Given the description of an element on the screen output the (x, y) to click on. 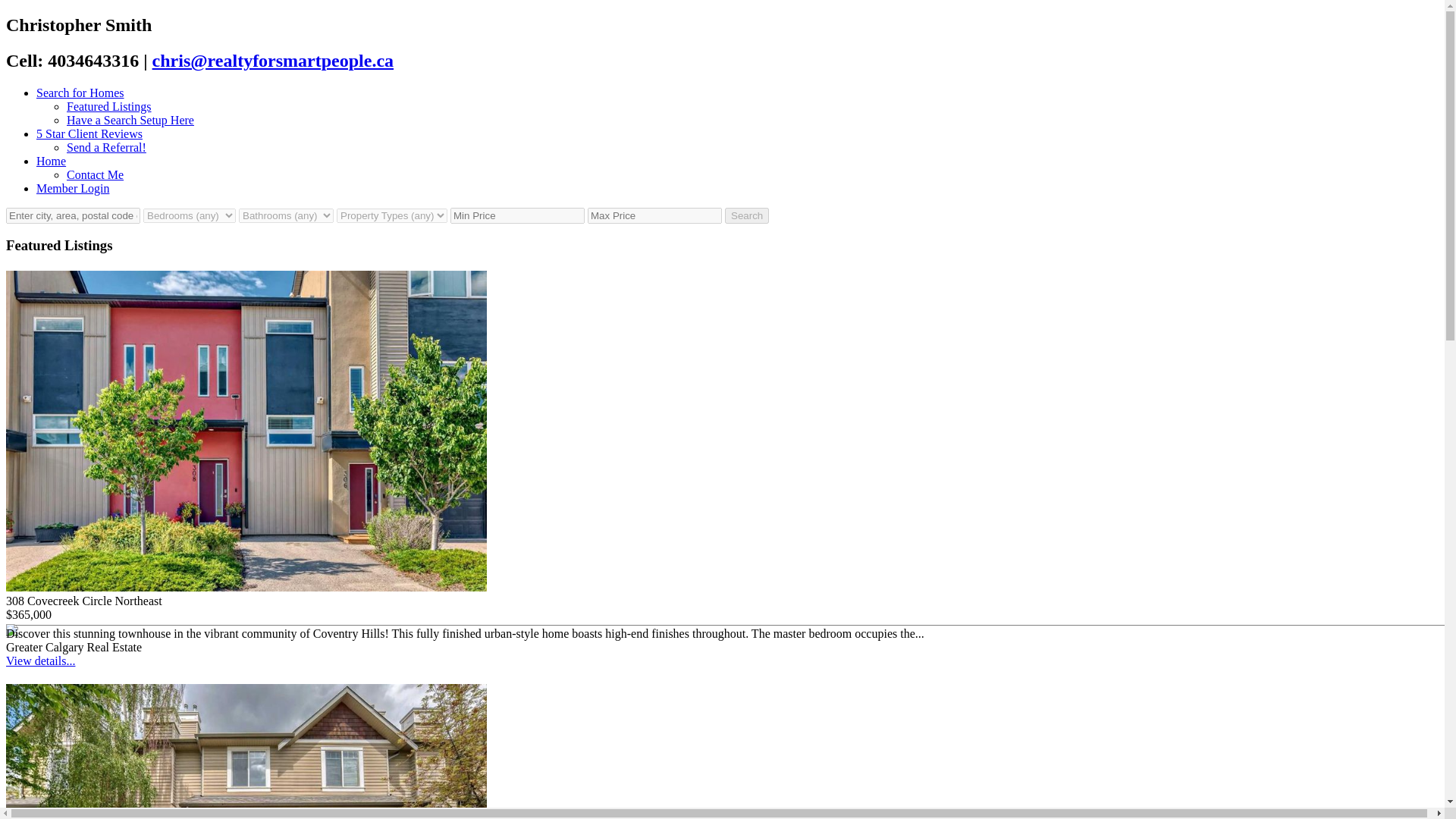
Featured Listings (108, 106)
Have a Search Setup Here (129, 119)
Contact Me (94, 174)
Search for Homes (79, 92)
Send a Referral! (106, 146)
Search (746, 215)
Home (50, 160)
Member Login (72, 187)
View details... (40, 660)
5 Star Client Reviews (89, 133)
